Given the description of an element on the screen output the (x, y) to click on. 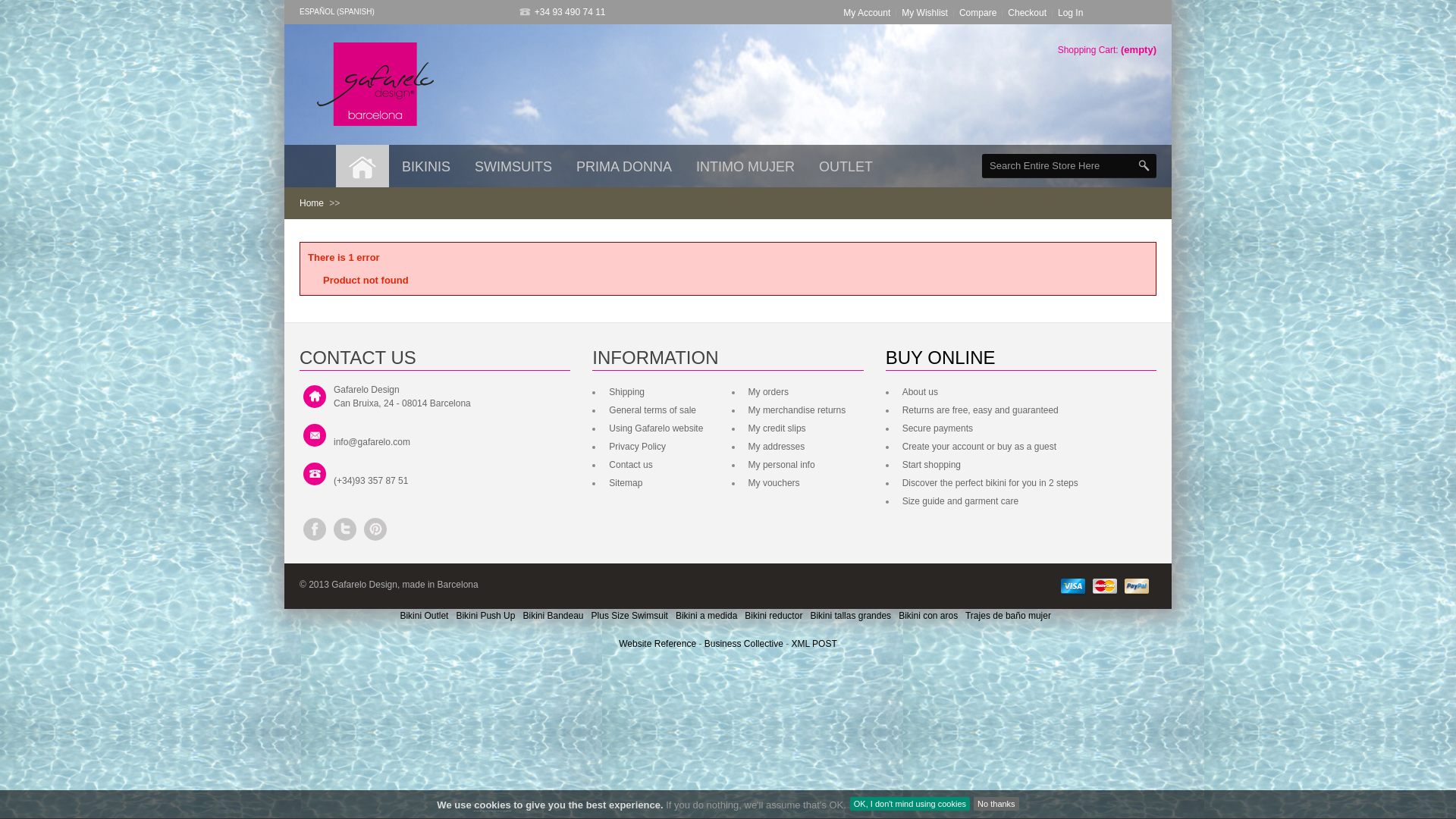
HOME Element type: text (362, 165)
SWIMSUITS Element type: text (513, 165)
Returns are free, easy and guaranteed Element type: text (978, 409)
Create your account or buy as a guest Element type: text (977, 446)
My addresses Element type: text (774, 446)
Contact us Element type: text (628, 464)
Shopping Cart: (empty) Element type: text (1106, 49)
Bikini a medida Element type: text (706, 615)
Plus Size Swimsuit Element type: text (629, 615)
Checkout Element type: text (1026, 12)
Bikini Push Up Element type: text (484, 615)
INTIMO MUJER Element type: text (745, 165)
Using Gafarelo website Element type: text (653, 428)
Business Collective Element type: text (744, 643)
My Wishlist Element type: text (924, 12)
Facebook Element type: text (314, 528)
My vouchers Element type: text (772, 482)
My orders Element type: text (766, 391)
My credit slips Element type: text (775, 428)
XML POST Element type: text (814, 643)
BIKINIS Element type: text (425, 165)
Bikini con aros Element type: text (927, 615)
Log In Element type: text (1069, 12)
BUY ONLINE Element type: text (940, 357)
Bikini Outlet Element type: text (423, 615)
About us Element type: text (918, 391)
Size guide and garment care Element type: text (958, 500)
Search Element type: text (1143, 165)
Bikini tallas grandes Element type: text (850, 615)
Pinterest Element type: text (375, 528)
Gafarelo Design Element type: hover (375, 83)
Bikini Bandeau Element type: text (552, 615)
OK, I don't mind using cookies Element type: text (909, 803)
Compare Element type: text (977, 12)
Bikini reductor Element type: text (773, 615)
No thanks Element type: text (996, 803)
Discover the perfect bikini for you in 2 steps Element type: text (988, 482)
General terms of sale Element type: text (650, 409)
Shipping Element type: text (624, 391)
Secure payments Element type: text (935, 428)
OUTLET Element type: text (845, 165)
Privacy Policy Element type: text (635, 446)
Sitemap Element type: text (623, 482)
cookies Element type: text (491, 805)
Website Reference Element type: text (658, 643)
Home Element type: text (311, 202)
My Account Element type: text (866, 12)
PRIMA DONNA Element type: text (623, 165)
Start shopping Element type: text (929, 464)
Twitter Element type: text (344, 528)
My personal info Element type: text (779, 464)
My merchandise returns Element type: text (795, 409)
